Given the description of an element on the screen output the (x, y) to click on. 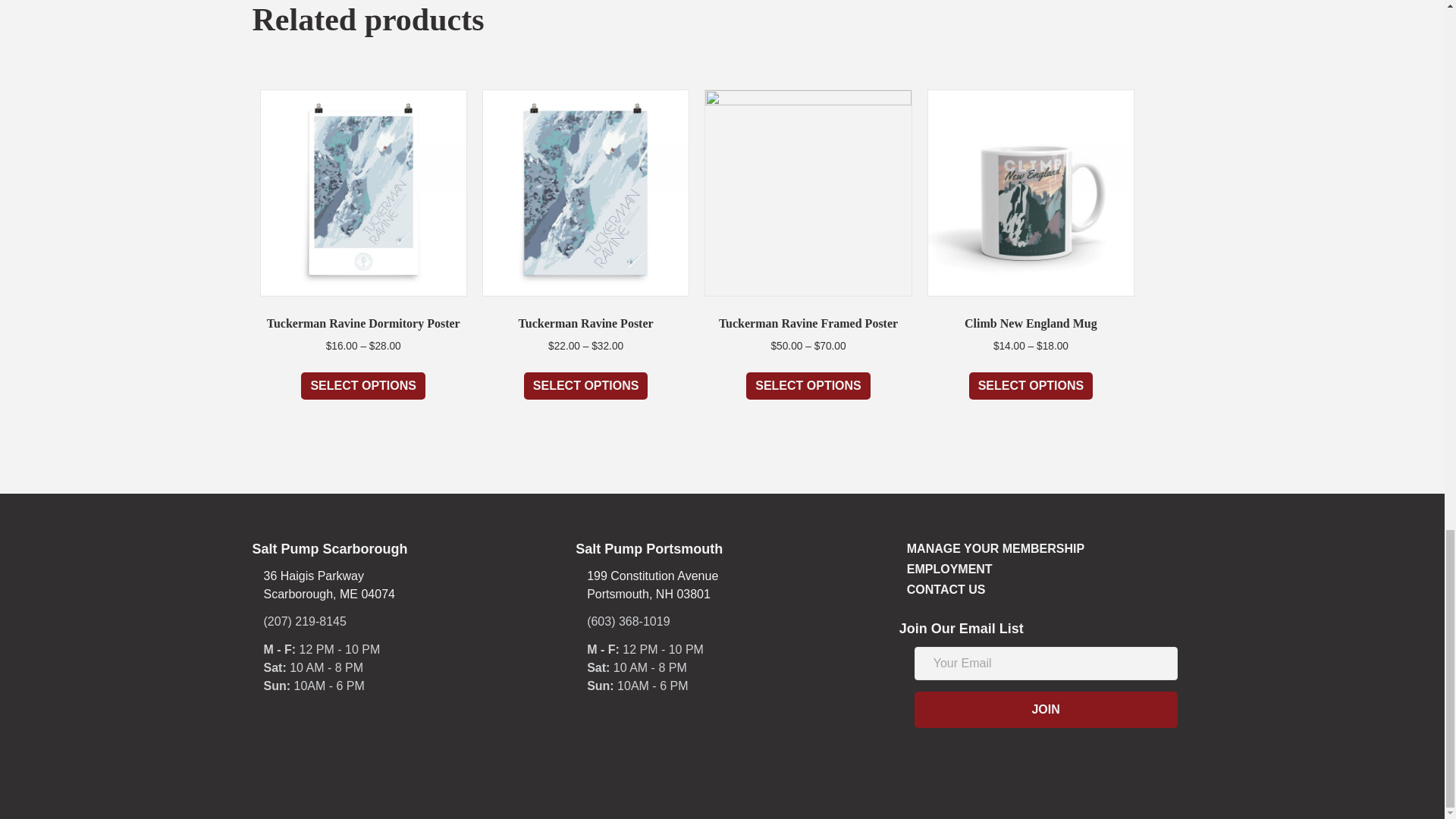
SELECT OPTIONS (328, 585)
SELECT OPTIONS (363, 385)
SELECT OPTIONS (807, 385)
SELECT OPTIONS (585, 385)
